Given the description of an element on the screen output the (x, y) to click on. 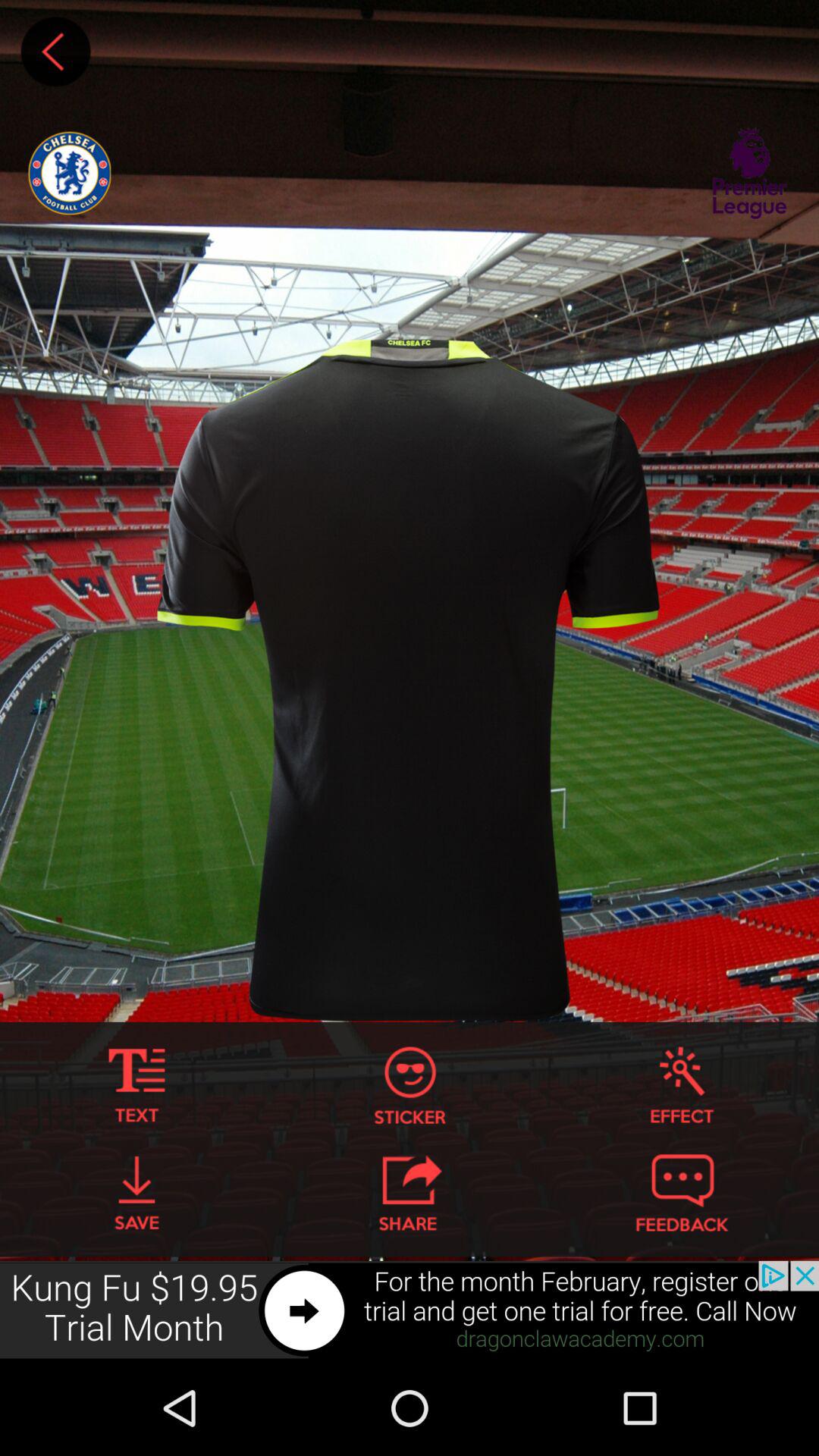
go back (55, 51)
